Given the description of an element on the screen output the (x, y) to click on. 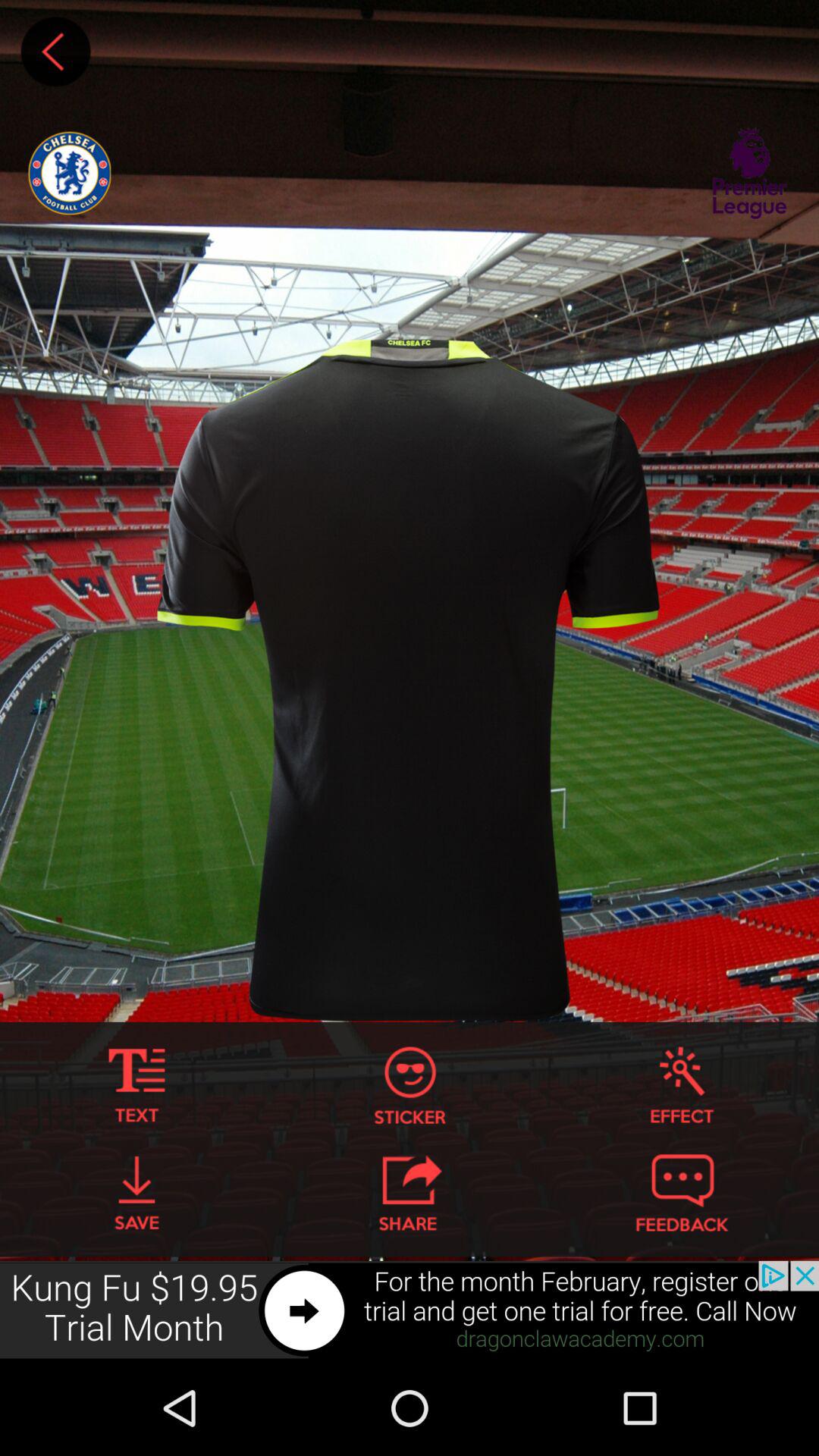
go back (55, 51)
